Given the description of an element on the screen output the (x, y) to click on. 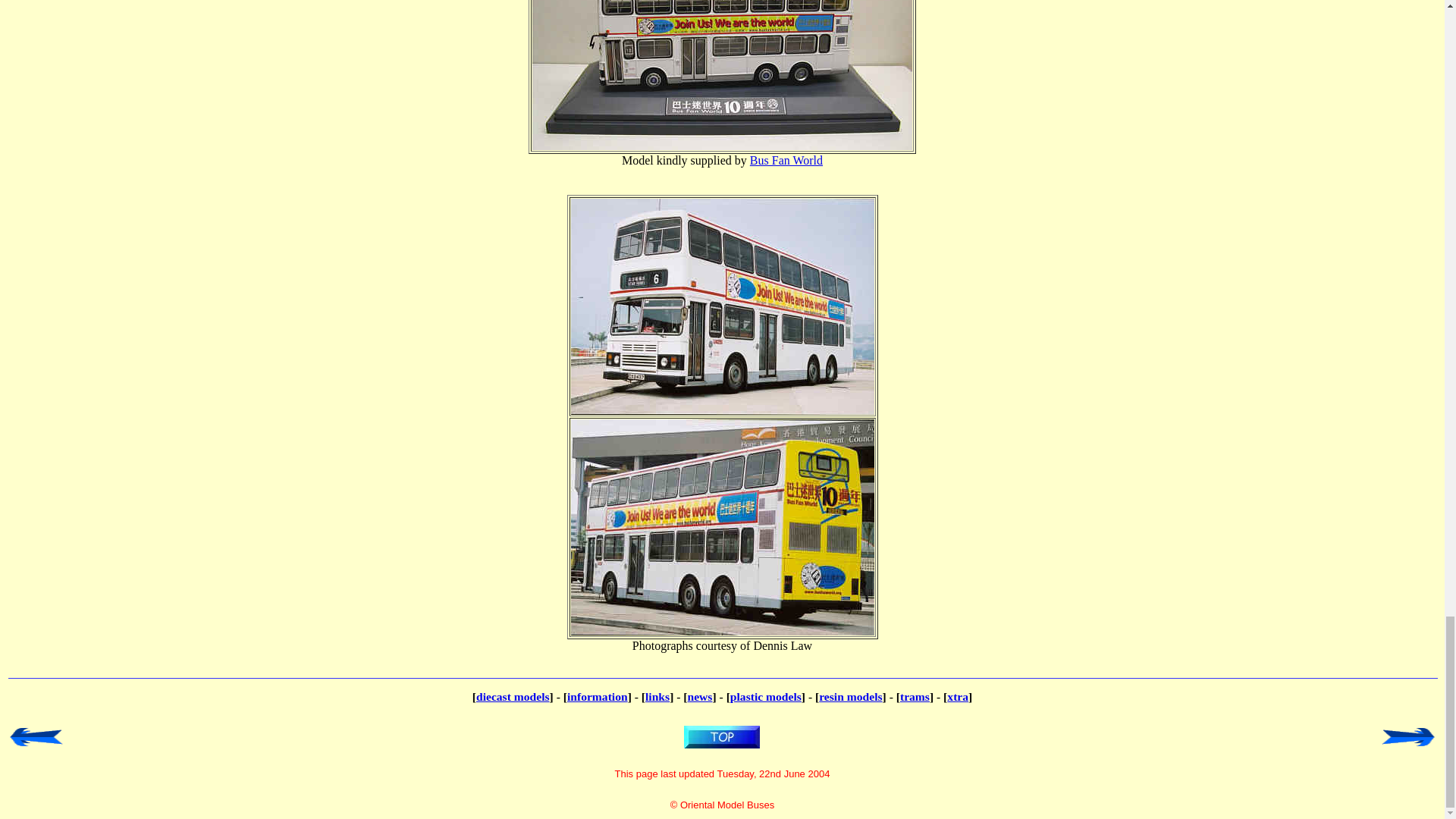
resin models (850, 696)
plastic models (766, 696)
information (597, 696)
links (657, 696)
xtra (957, 696)
diecast models (513, 696)
trams (914, 696)
news (700, 696)
Bus Fan World (785, 160)
